Given the description of an element on the screen output the (x, y) to click on. 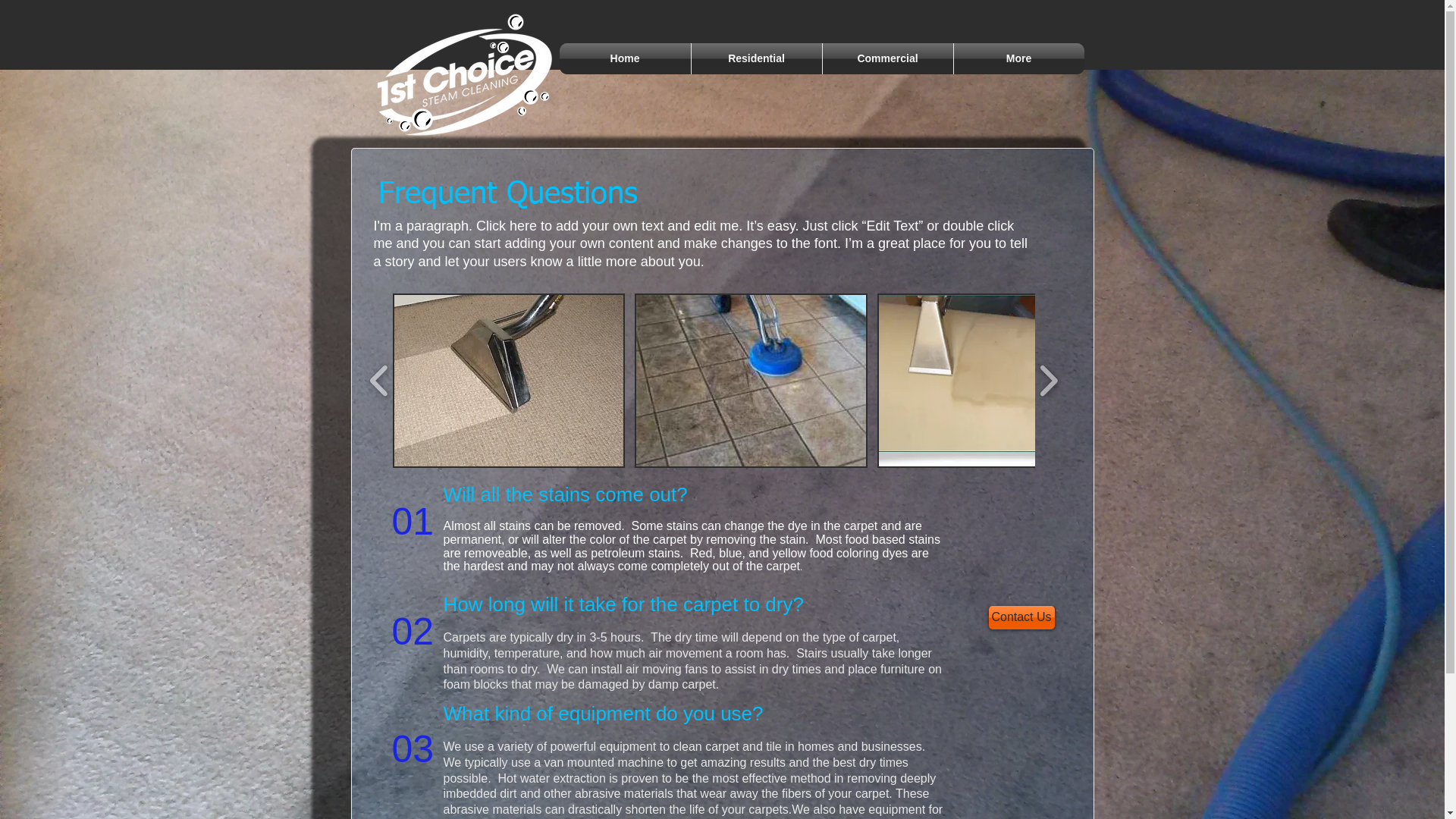
Contact Us Element type: text (1021, 617)
Residential Element type: text (756, 58)
Commercial Element type: text (887, 58)
Home Element type: text (624, 58)
1stChoiceSteamCleaning_CustomLogoDesign_R2.png Element type: hover (462, 75)
